Given the description of an element on the screen output the (x, y) to click on. 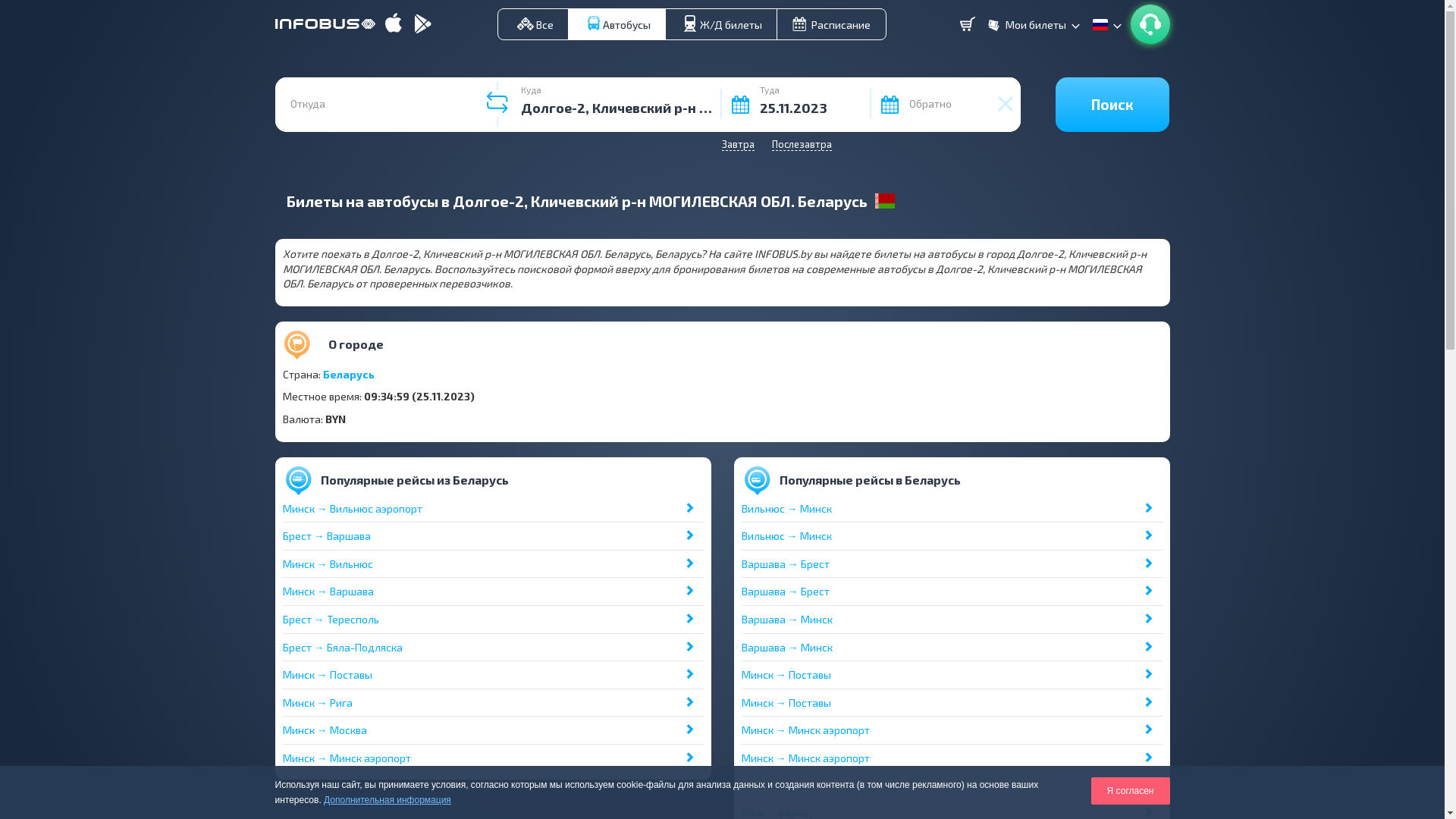
Google Play Element type: hover (422, 23)
Apple Store Element type: hover (394, 23)
INFOBUS Element type: hover (326, 20)
